Given the description of an element on the screen output the (x, y) to click on. 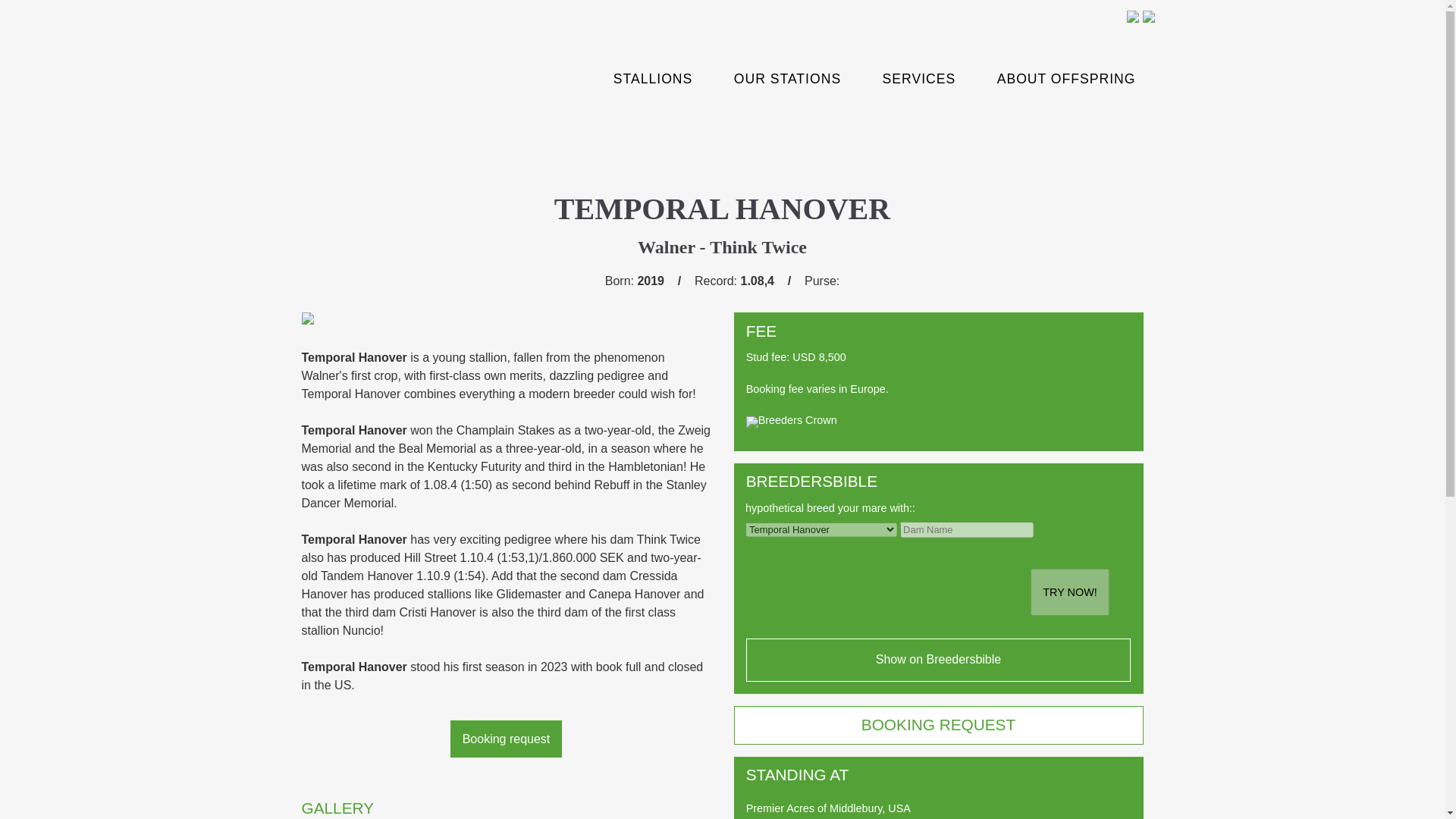
ABOUT OFFSPRING (1066, 78)
TRY NOW! (1069, 591)
BOOKING REQUEST (937, 724)
Premier Acres of Middlebury, USA (828, 808)
SERVICES (919, 78)
STALLIONS (653, 78)
Booking request (505, 738)
OUR STATIONS (786, 78)
Show on Breedersbible (938, 659)
